Given the description of an element on the screen output the (x, y) to click on. 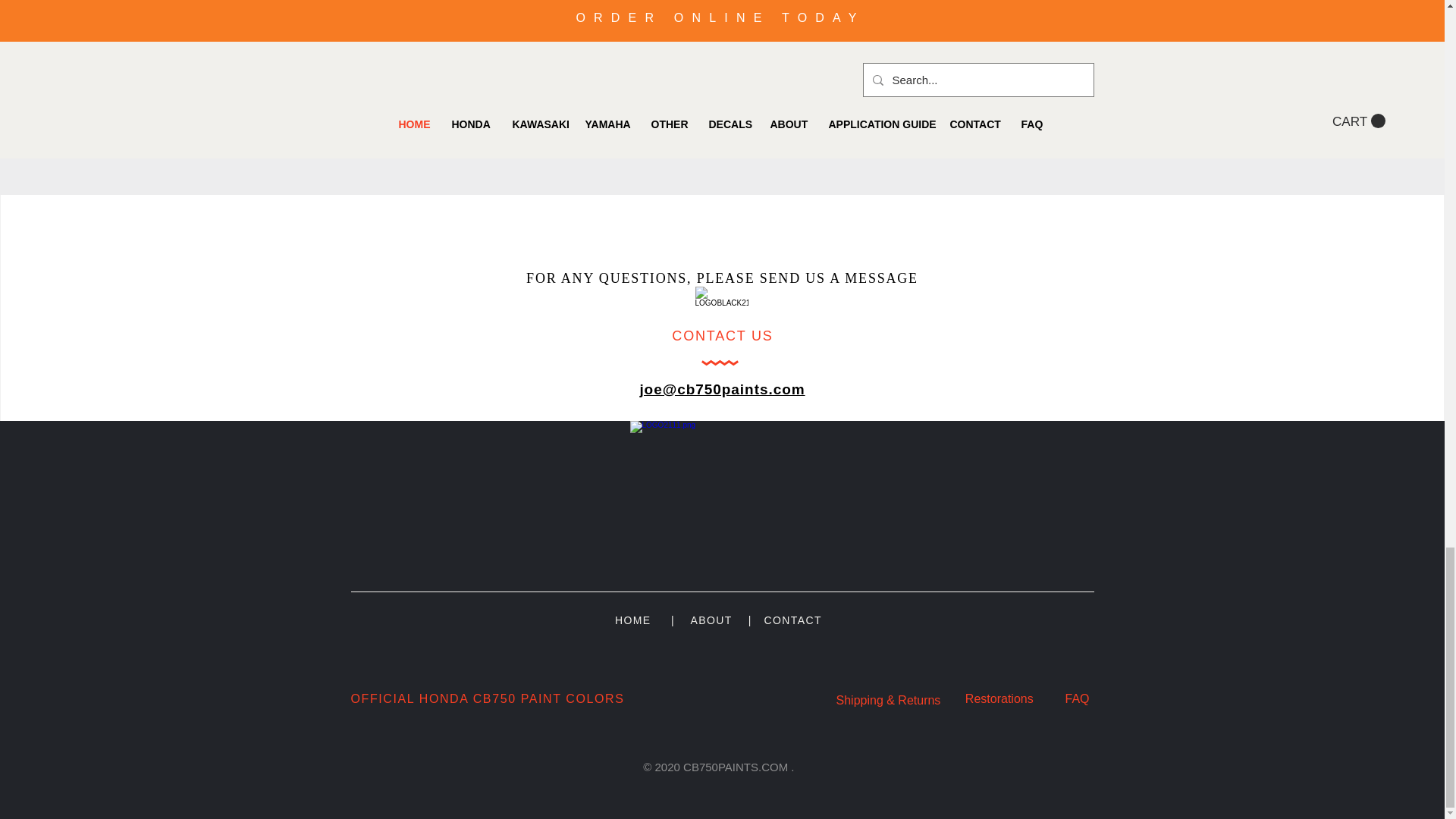
Shop Now (722, 98)
ABOUT (711, 620)
FAQ (1076, 698)
Restorations  (1000, 698)
HOME (632, 620)
